Given the description of an element on the screen output the (x, y) to click on. 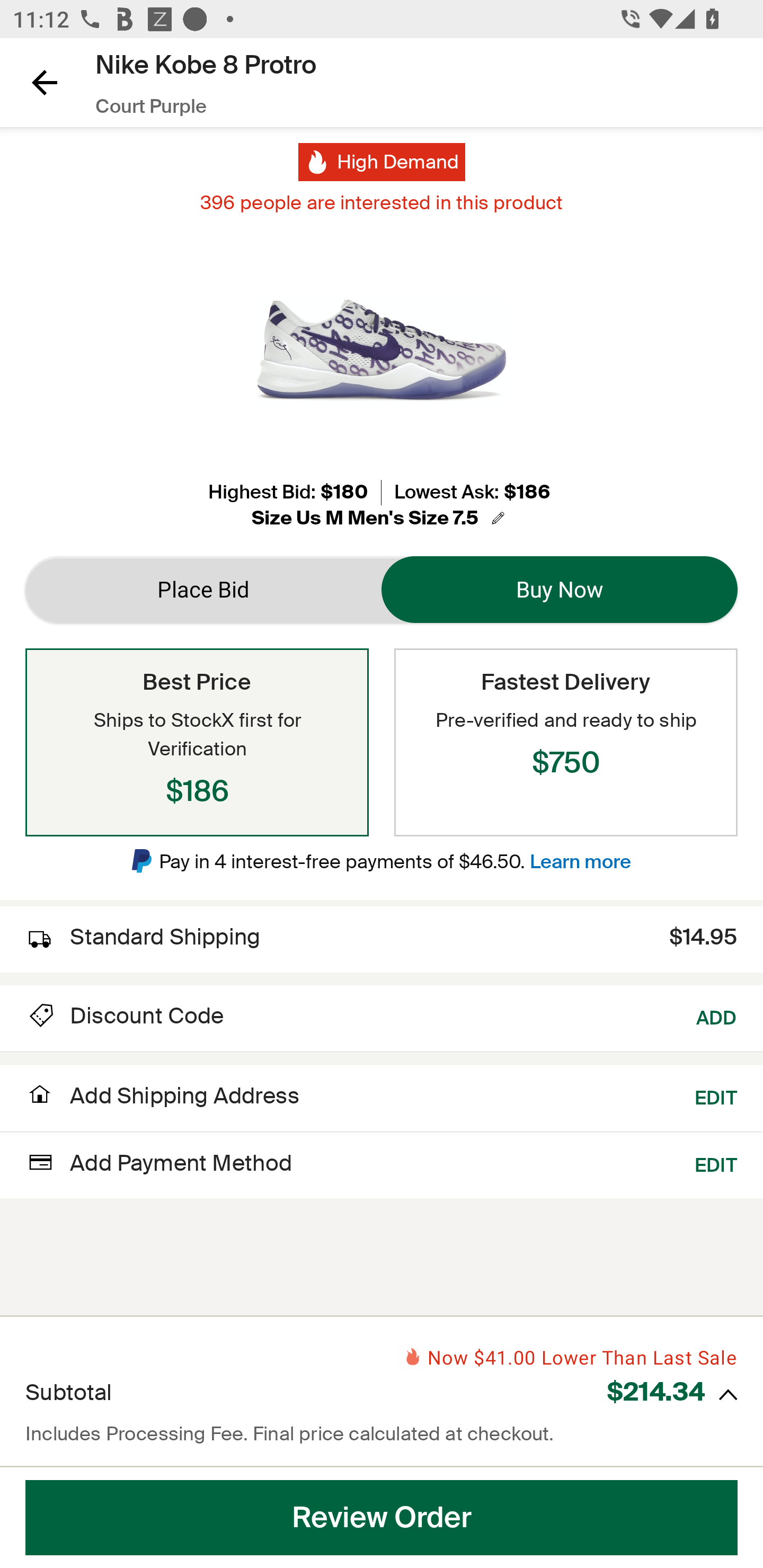
Navigate up (44, 82)
Sneaker Image (381, 350)
Size Us M Men's Size 7.5 An image (380, 517)
Add Discount Code Discount Code (124, 1016)
ADD (717, 1016)
Edit Payment Icon Add Shipping Address (162, 1100)
EDIT (716, 1095)
Edit Payment Icon Add Payment Method (158, 1162)
EDIT (716, 1162)
Review Order (381, 1517)
